Given the description of an element on the screen output the (x, y) to click on. 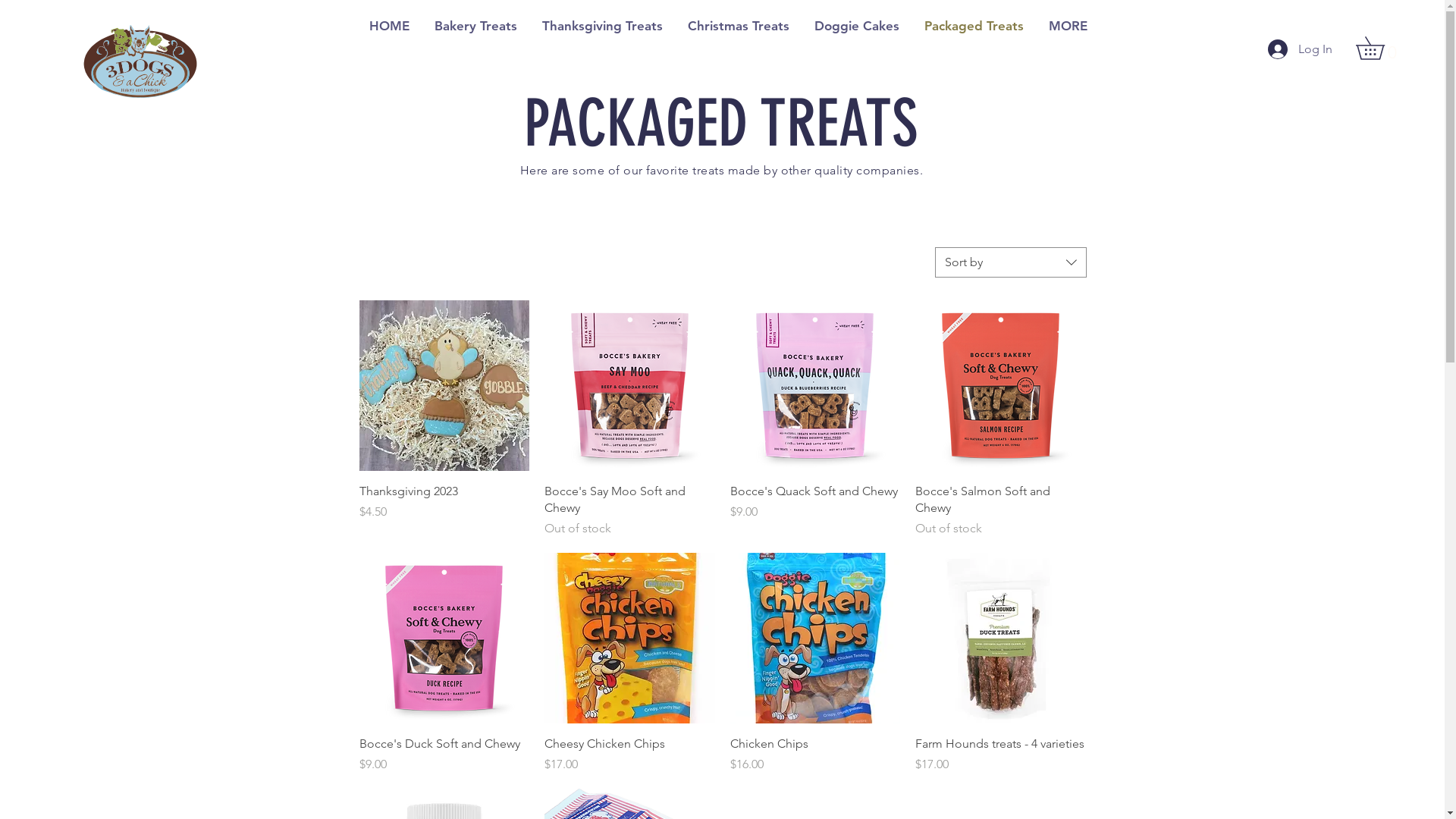
Bocce's Say Moo Soft and Chewy
Out of stock Element type: text (629, 509)
Chicken Chips
Price
$16.00 Element type: text (814, 754)
Christmas Treats Element type: text (737, 24)
Cheesy Chicken Chips
Price
$17.00 Element type: text (629, 754)
Thanksgiving Treats Element type: text (601, 24)
0 Element type: text (1380, 47)
Farm Hounds treats - 4 varieties
Price
$17.00 Element type: text (1000, 754)
Log In Element type: text (1288, 48)
Bakery Treats Element type: text (475, 24)
HOME Element type: text (388, 24)
Packaged Treats Element type: text (973, 24)
Sort by Element type: text (1009, 262)
Bocce's Salmon Soft and Chewy
Out of stock Element type: text (1000, 509)
Bocce's Duck Soft and Chewy
Price
$9.00 Element type: text (444, 754)
Bocce's Quack Soft and Chewy
Price
$9.00 Element type: text (814, 509)
Thanksgiving 2023
Price
$4.50 Element type: text (444, 509)
Doggie Cakes Element type: text (857, 24)
